Given the description of an element on the screen output the (x, y) to click on. 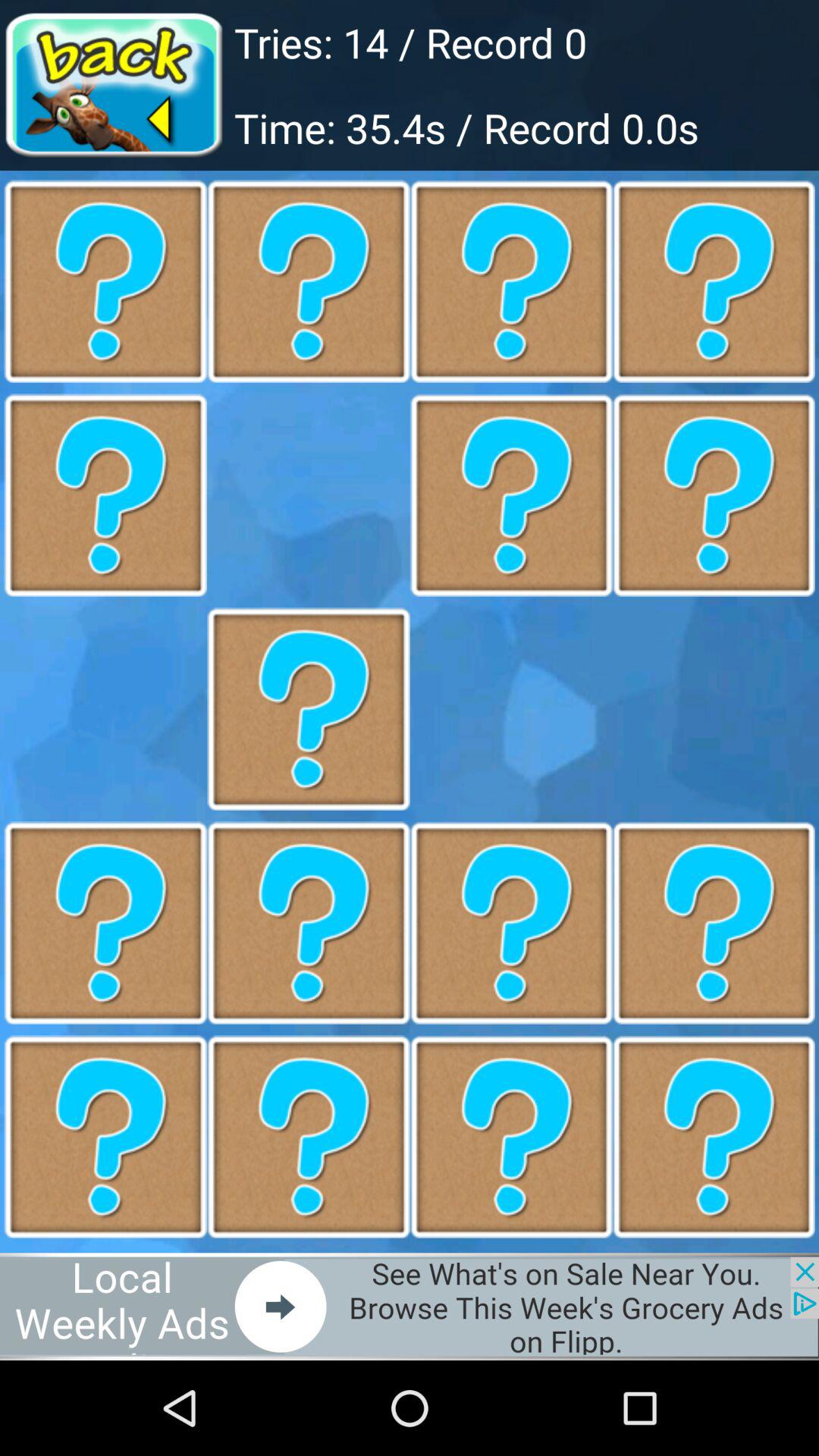
select the second image (308, 281)
